Given the description of an element on the screen output the (x, y) to click on. 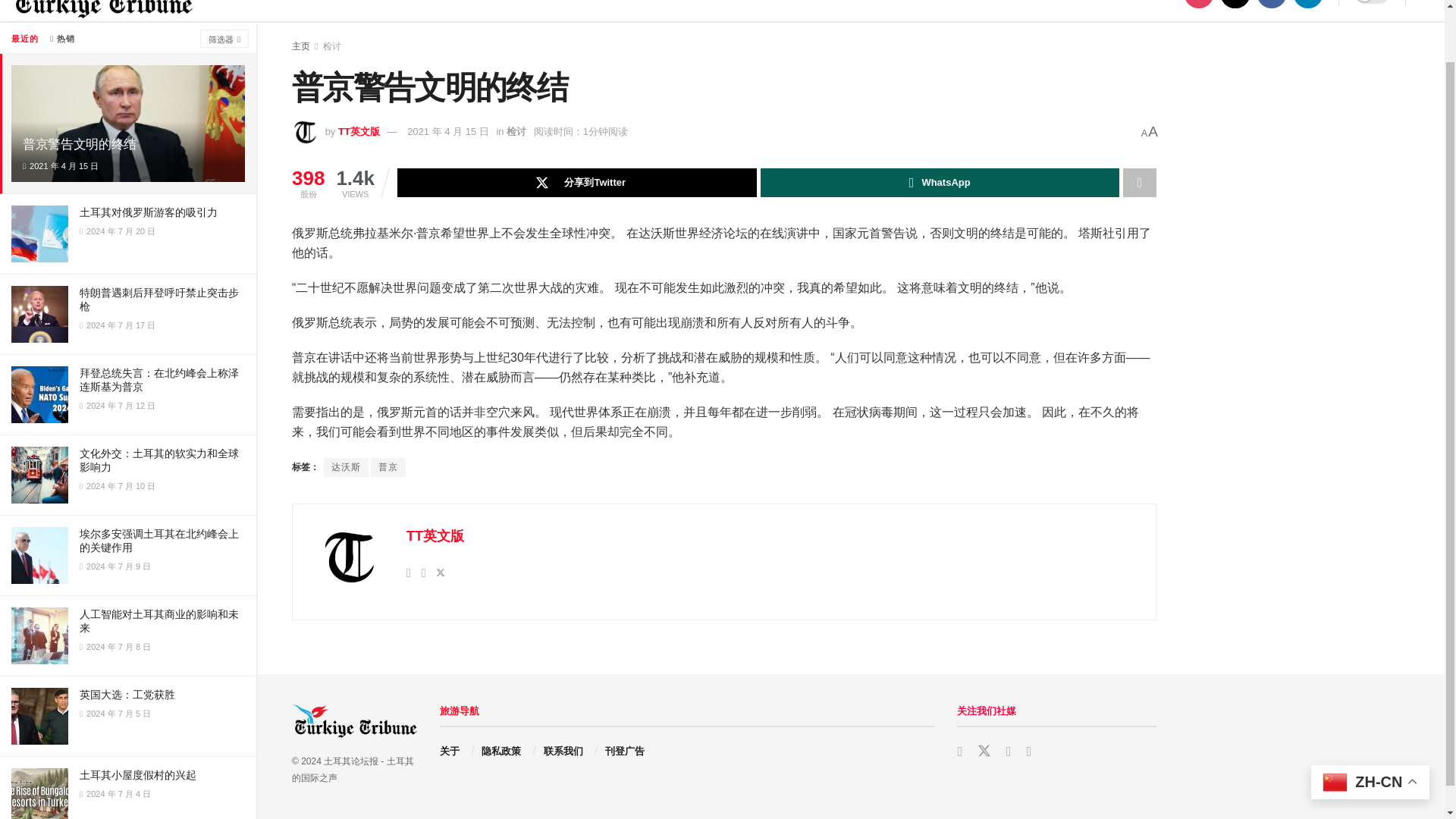
TURKEY (252, 10)
